Given the description of an element on the screen output the (x, y) to click on. 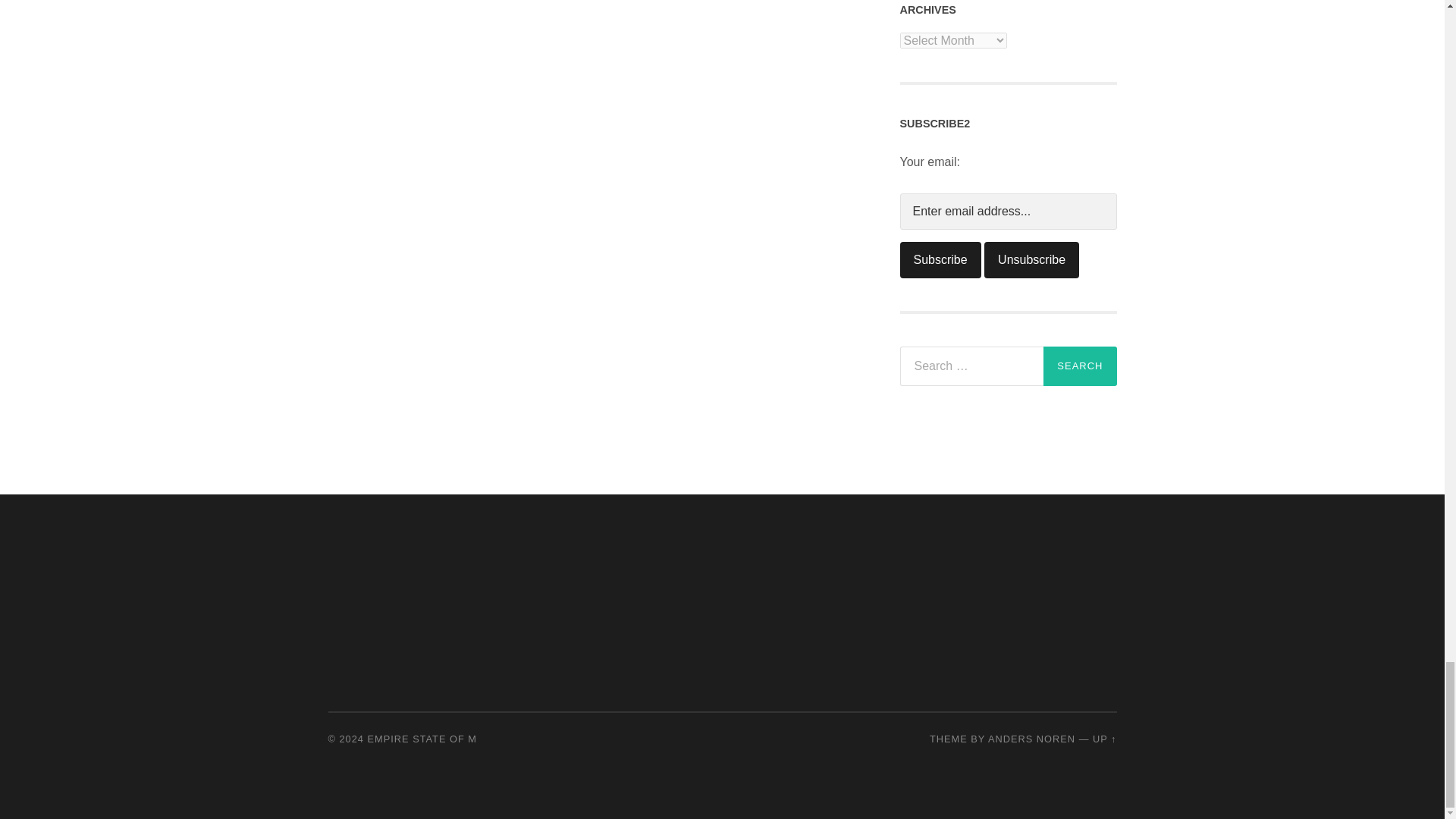
Enter email address... (1007, 211)
Search (1079, 365)
Subscribe (939, 259)
To the top (1104, 738)
Search (1079, 365)
Unsubscribe (1031, 259)
